Given the description of an element on the screen output the (x, y) to click on. 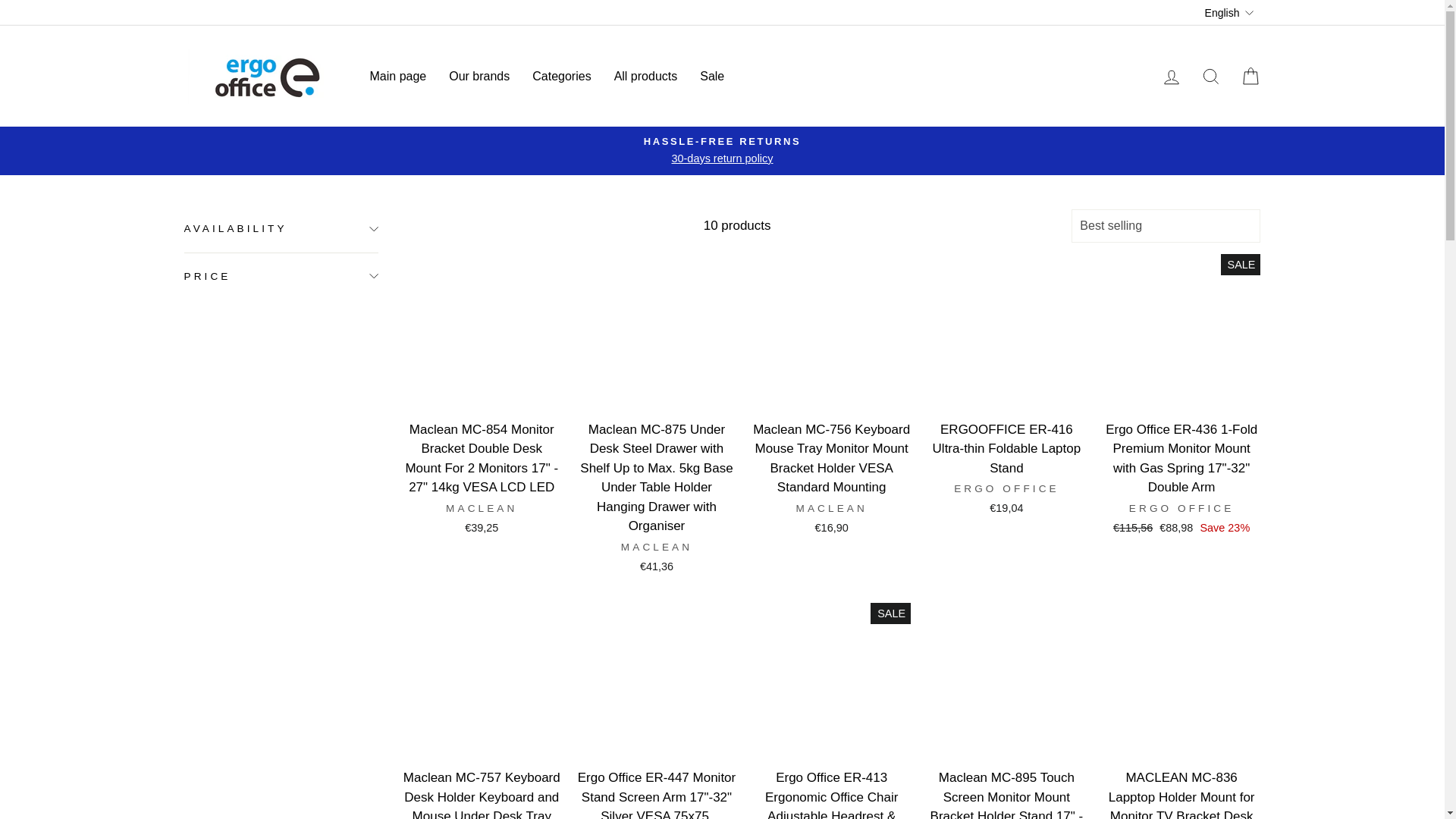
Sale (711, 75)
Main page (398, 75)
Our brands (479, 75)
Log in (1171, 75)
English (1230, 12)
Categories (561, 75)
All products (645, 75)
